Given the description of an element on the screen output the (x, y) to click on. 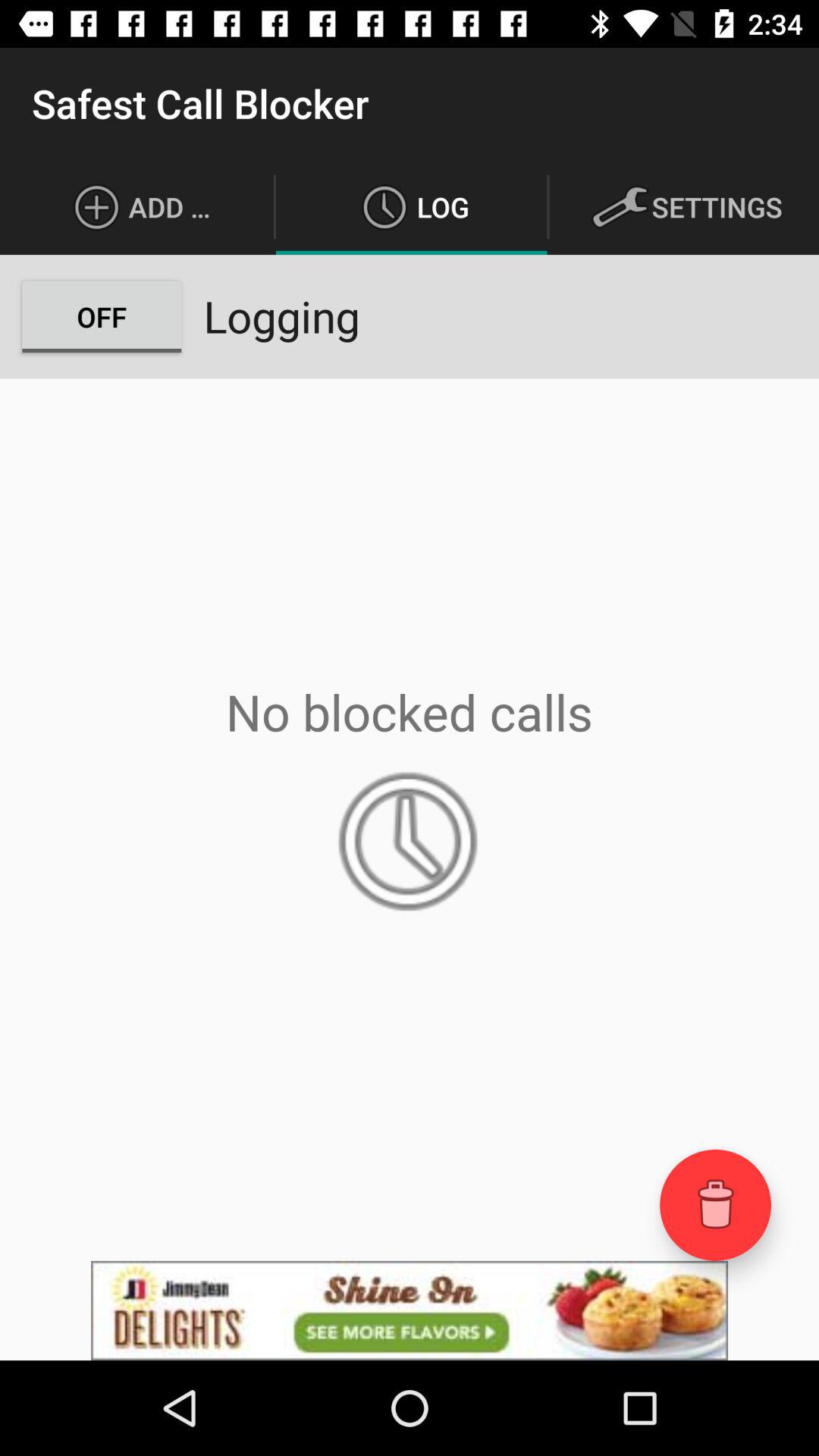
delete (715, 1204)
